Given the description of an element on the screen output the (x, y) to click on. 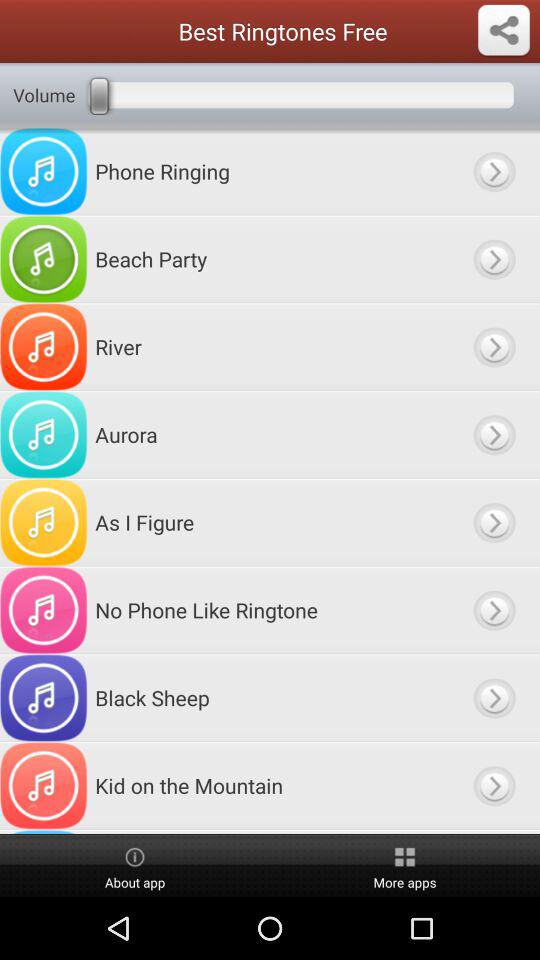
choose ringtone (494, 697)
